Given the description of an element on the screen output the (x, y) to click on. 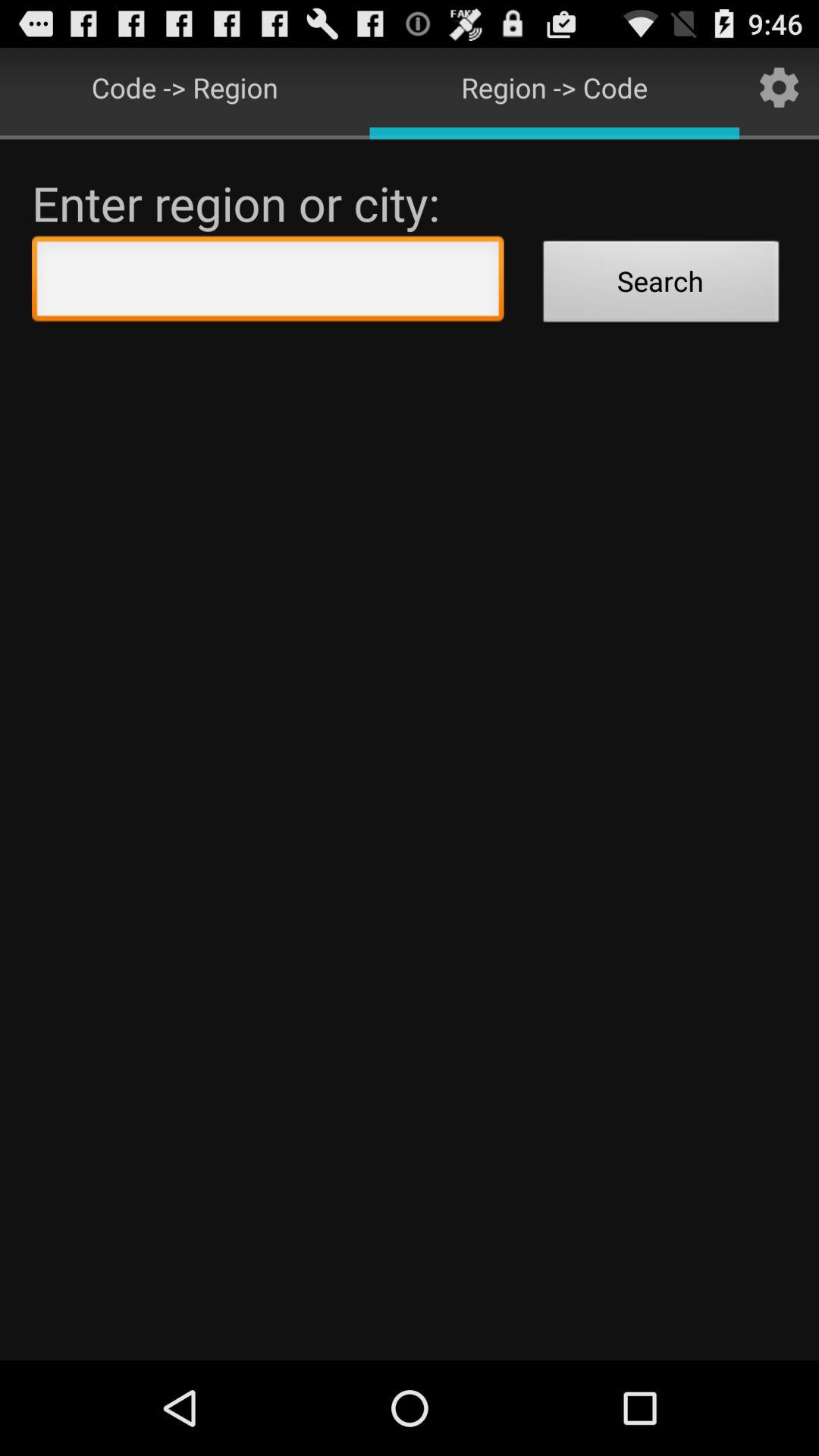
turn on the search icon (661, 284)
